Given the description of an element on the screen output the (x, y) to click on. 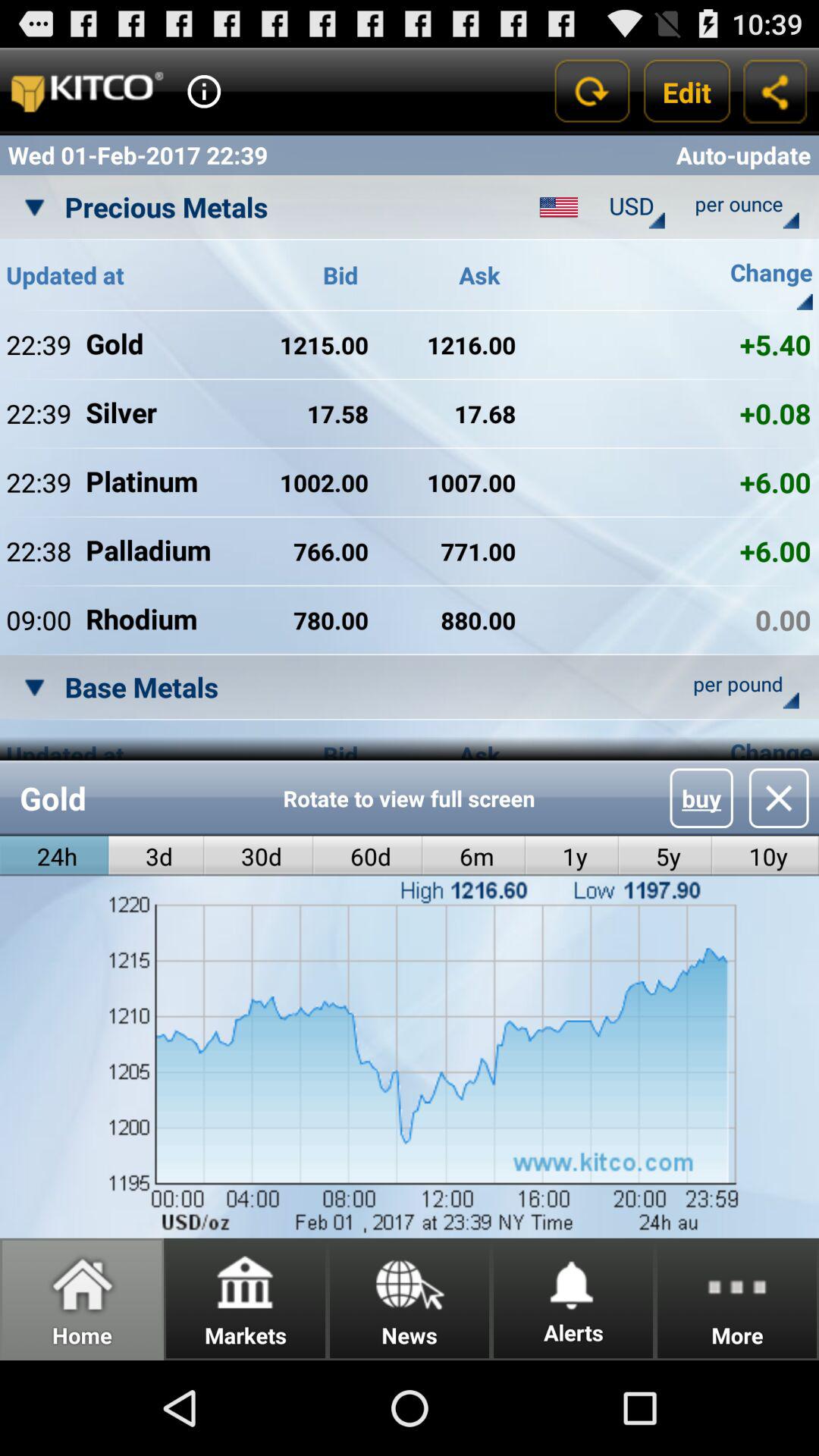
more information (204, 91)
